Given the description of an element on the screen output the (x, y) to click on. 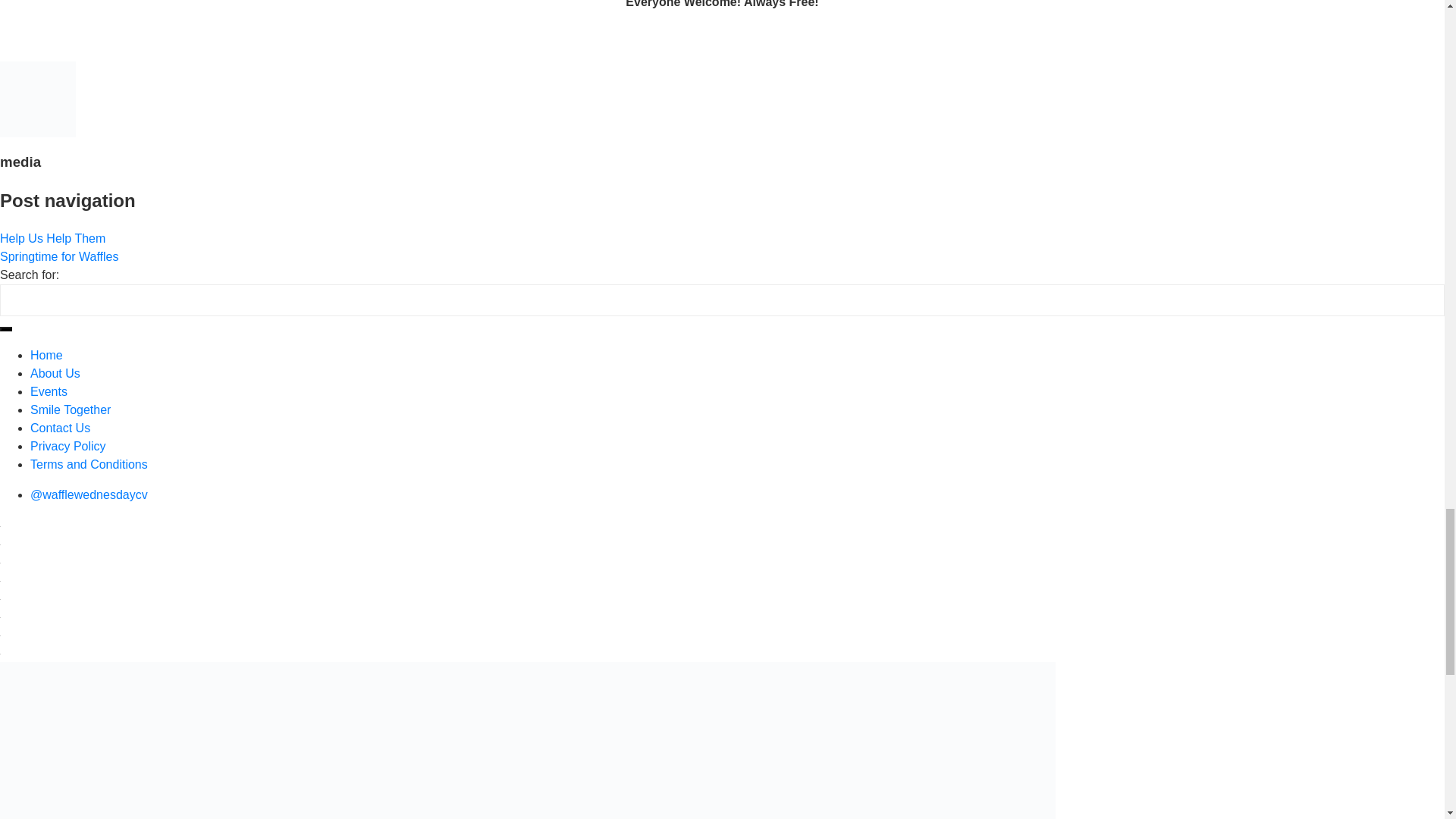
Springtime for Waffles (59, 256)
About Us (55, 373)
Home (46, 354)
Smile Together (70, 409)
Terms and Conditions (89, 463)
Contact Us (60, 427)
Privacy Policy (68, 445)
Help Us Help Them (52, 237)
Events (48, 391)
